Given the description of an element on the screen output the (x, y) to click on. 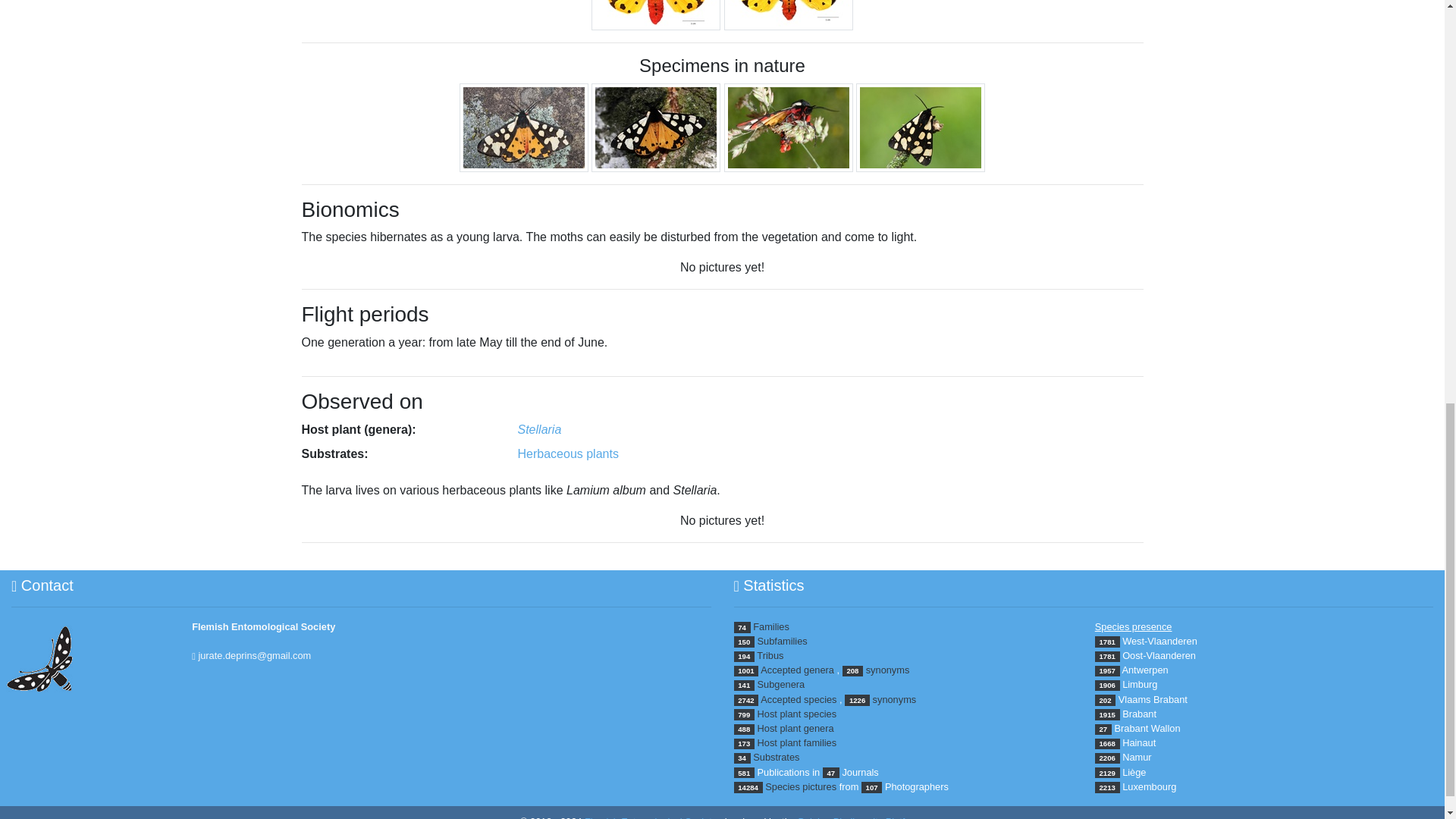
Substrates (775, 756)
Families (770, 626)
Flemish Entomological Society (650, 817)
Accepted species (797, 699)
Host plant species (797, 713)
Host plant genera (795, 727)
Accepted genera (797, 669)
Flemish Entomological Society (263, 626)
Subgenera (781, 684)
Tribus (770, 655)
Stellaria (538, 429)
Subfamilies (782, 641)
Herbaceous plants (566, 453)
Host plant families (797, 742)
synonyms (888, 669)
